Given the description of an element on the screen output the (x, y) to click on. 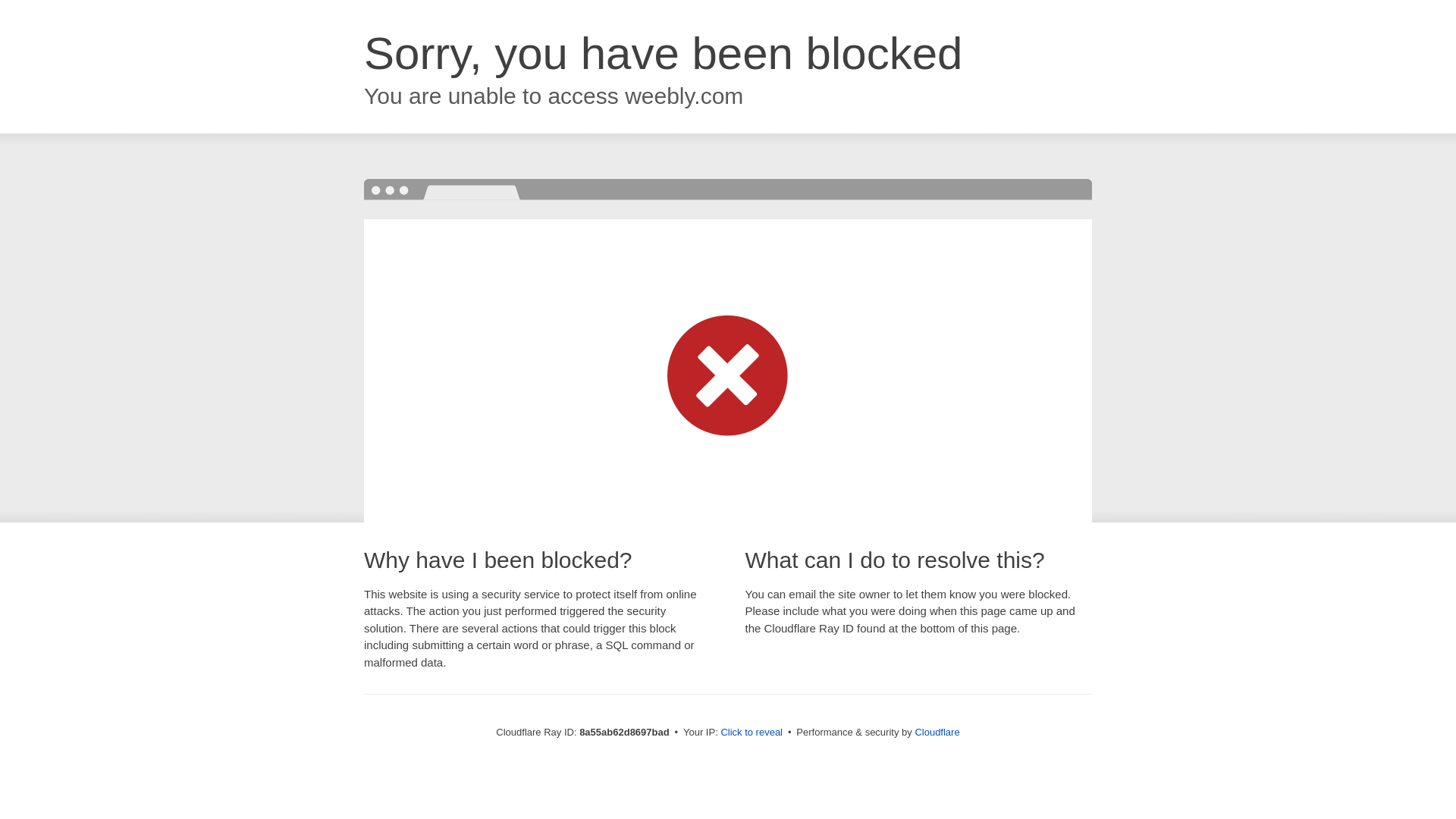
Click to reveal (751, 732)
Cloudflare (936, 731)
